Given the description of an element on the screen output the (x, y) to click on. 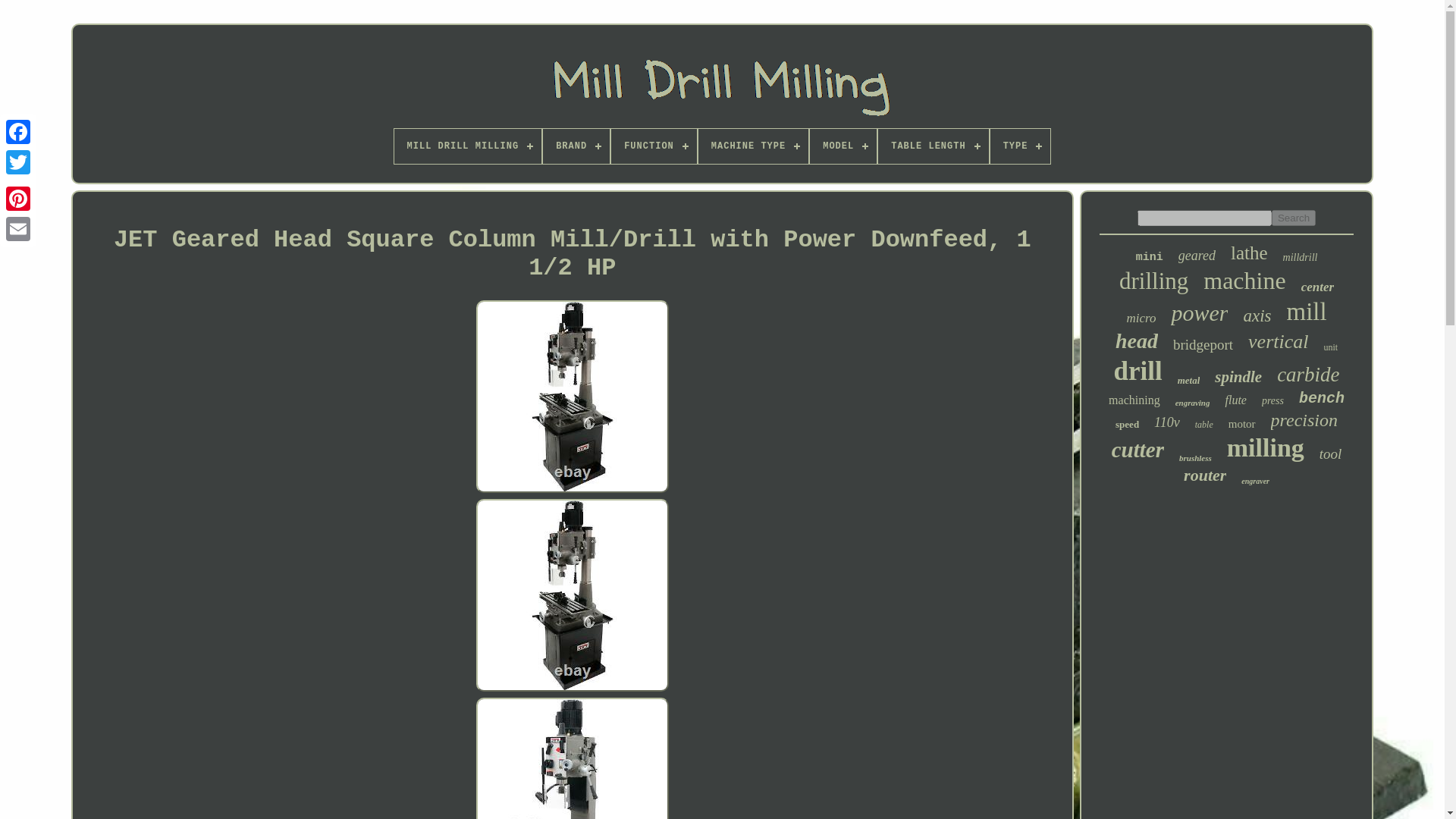
BRAND (576, 145)
MILL DRILL MILLING (467, 145)
Search (1293, 217)
FUNCTION (654, 145)
